Given the description of an element on the screen output the (x, y) to click on. 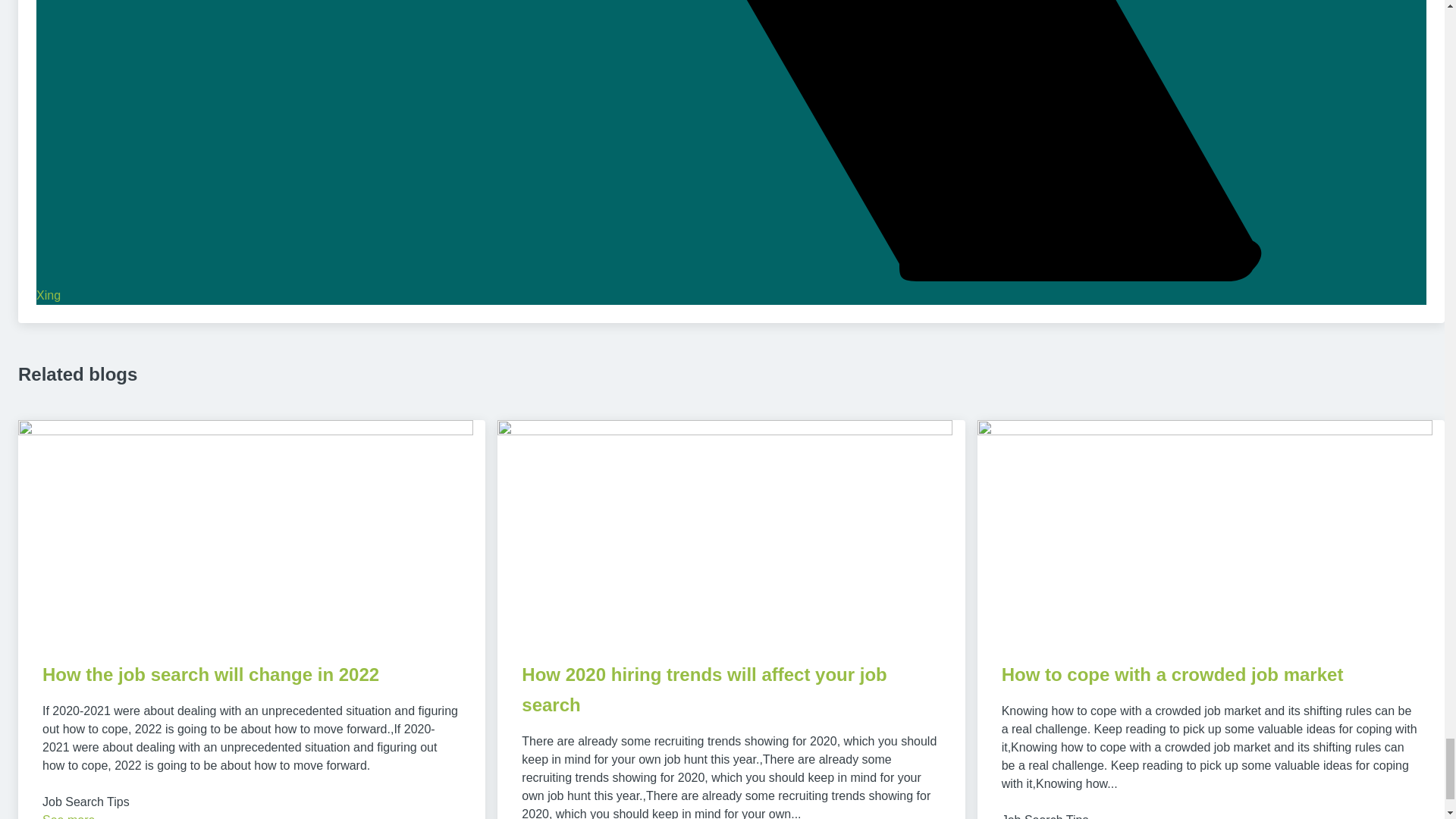
See more (68, 816)
How 2020 hiring trends will affect your job search (703, 689)
How the job search will change in 2022 (210, 674)
